Given the description of an element on the screen output the (x, y) to click on. 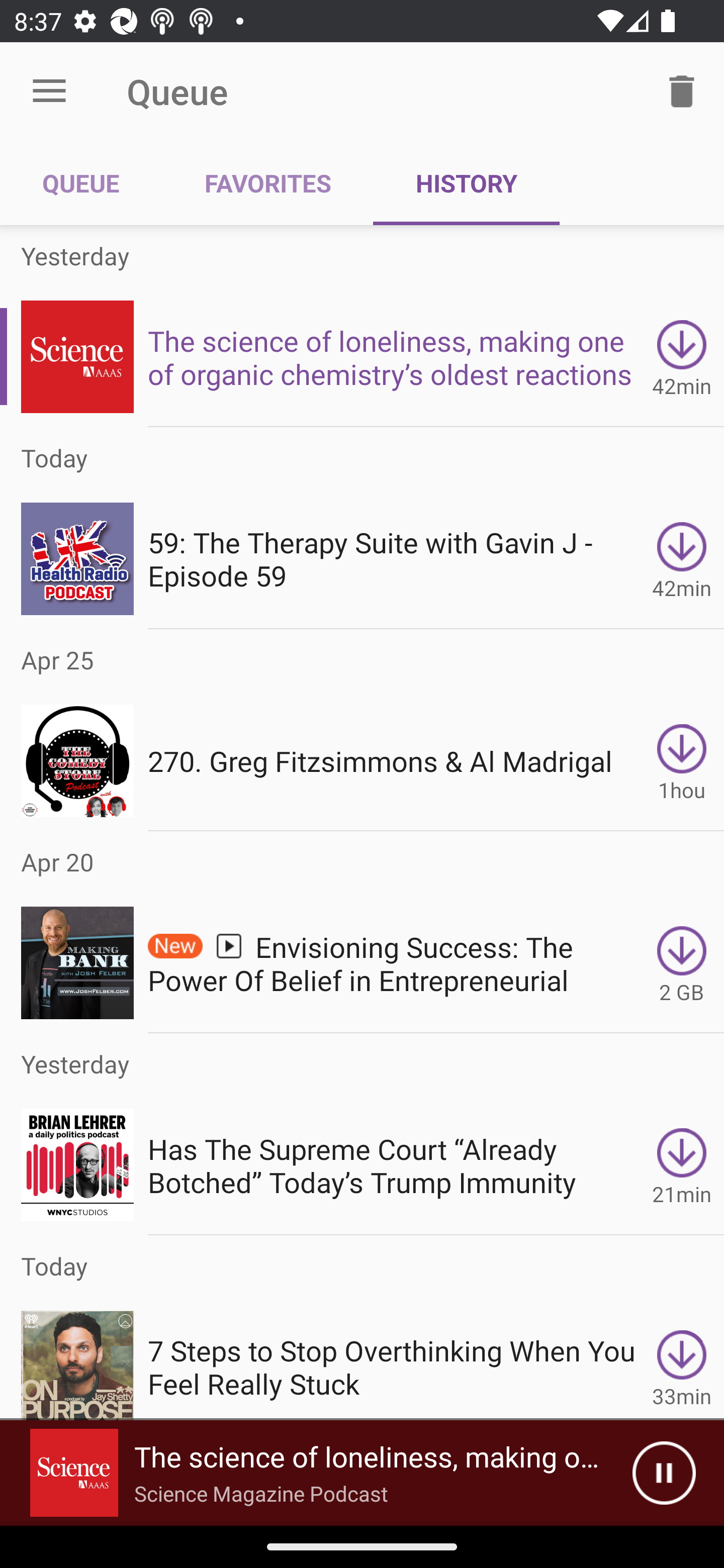
Open menu (49, 91)
Clear History (681, 90)
QUEUE (81, 183)
FAVORITES (267, 183)
HISTORY (465, 183)
Download 42min (681, 356)
Download 42min (681, 558)
Download 1hou (681, 760)
Download 2 GB (681, 962)
Download 21min (681, 1164)
Download 33min (681, 1358)
Pause (663, 1472)
